Given the description of an element on the screen output the (x, y) to click on. 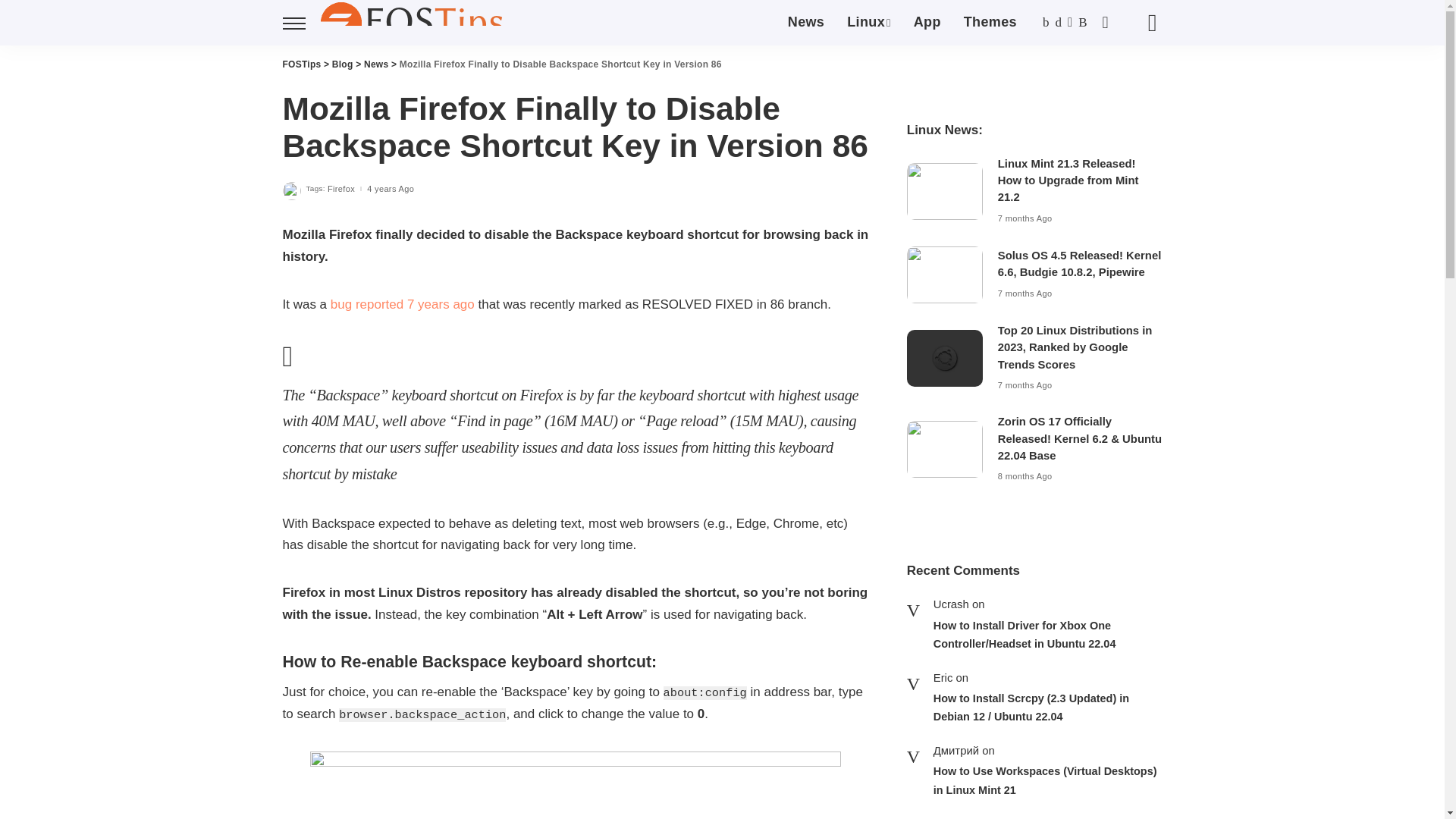
News (805, 22)
FOSTips (414, 22)
